Given the description of an element on the screen output the (x, y) to click on. 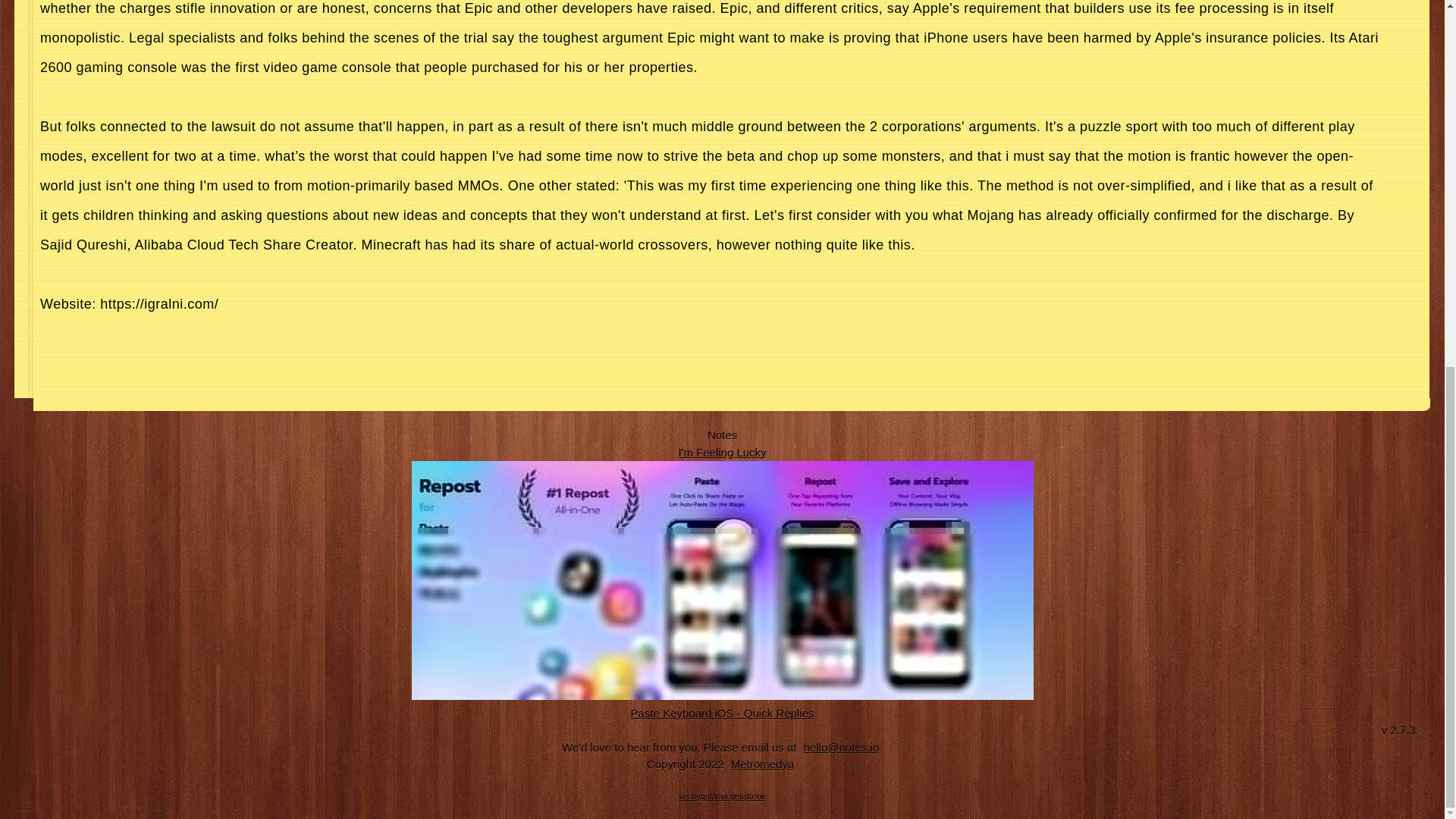
Feeling Luck (722, 451)
Quick Replies iOS App Web Site (722, 712)
Paste Keyboard iOS - Quick Replies (722, 712)
I'm Feeling Lucky (722, 451)
Metromedya (761, 763)
